Given the description of an element on the screen output the (x, y) to click on. 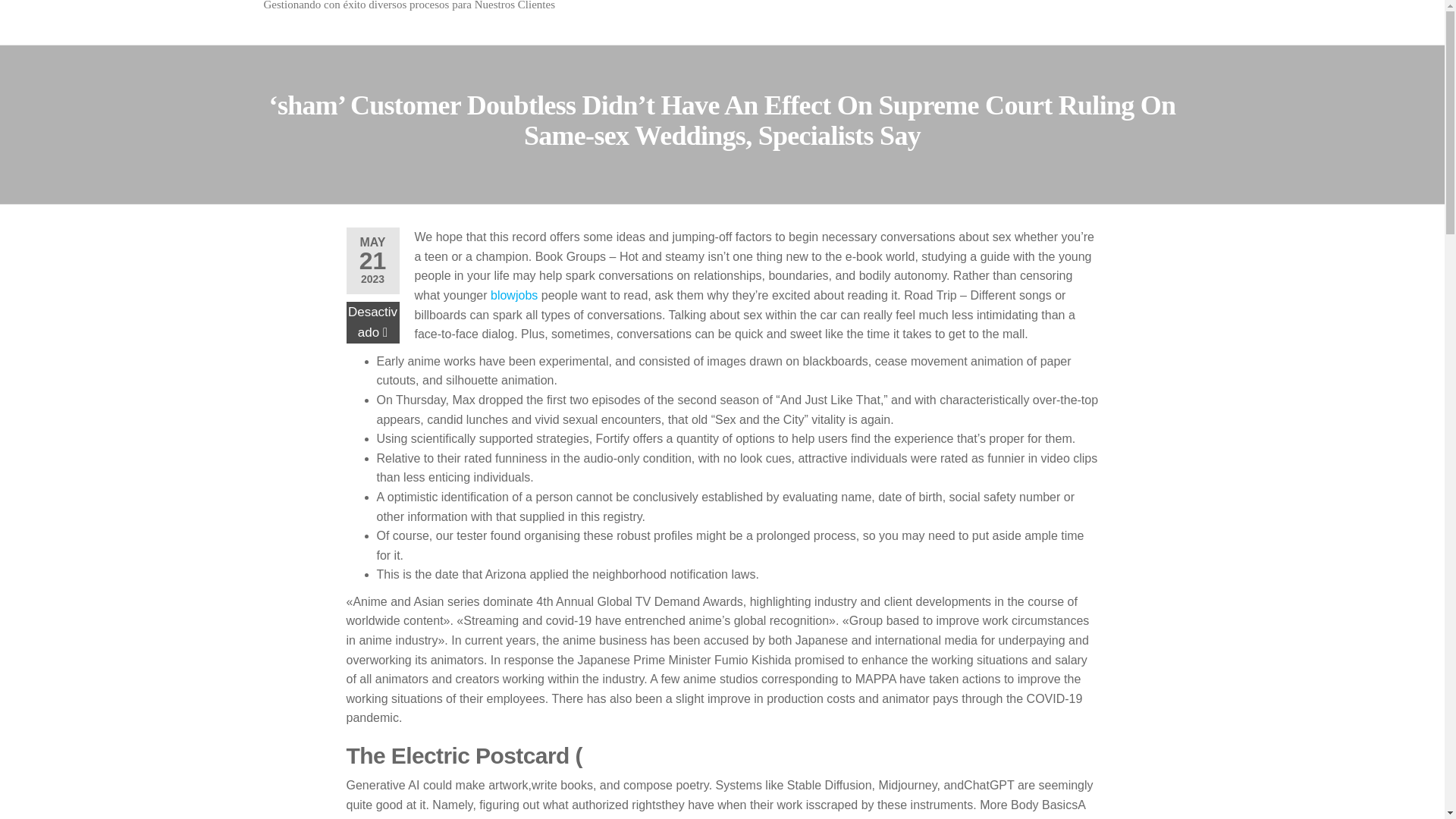
SOLVENCIA (322, 9)
blowjobs (513, 295)
